Given the description of an element on the screen output the (x, y) to click on. 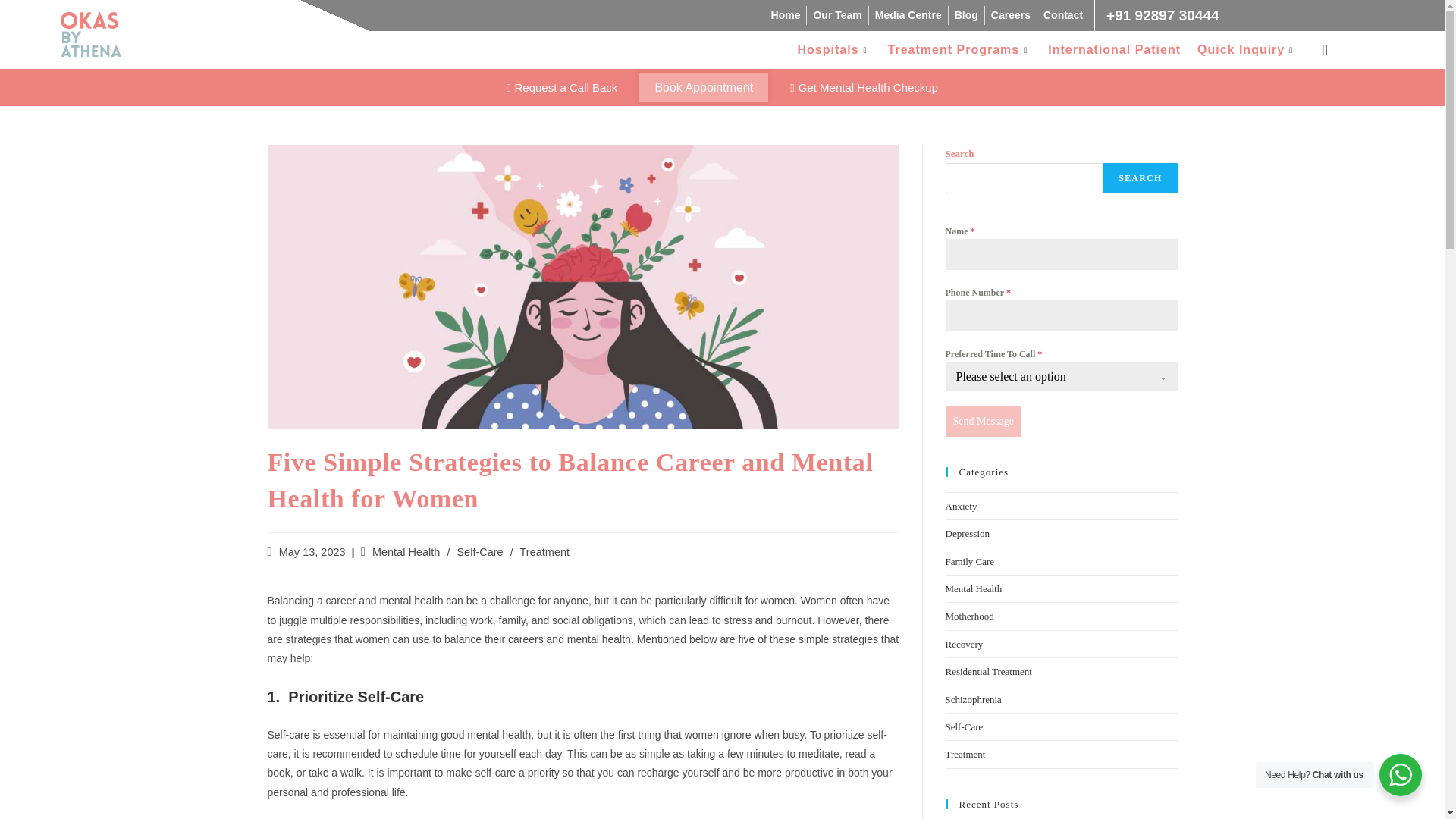
Treatment Programs (959, 49)
Quick Inquiry (1246, 49)
Hospitals (834, 49)
International Patient (1114, 49)
New-Logo-OKAS (90, 34)
Please select an option (1046, 376)
Our Team (836, 15)
Book Appointment (703, 87)
Request a Call Back (560, 87)
Contact (1063, 15)
Blog (966, 15)
Careers (1010, 15)
Media Centre (908, 15)
Home (785, 15)
